Given the description of an element on the screen output the (x, y) to click on. 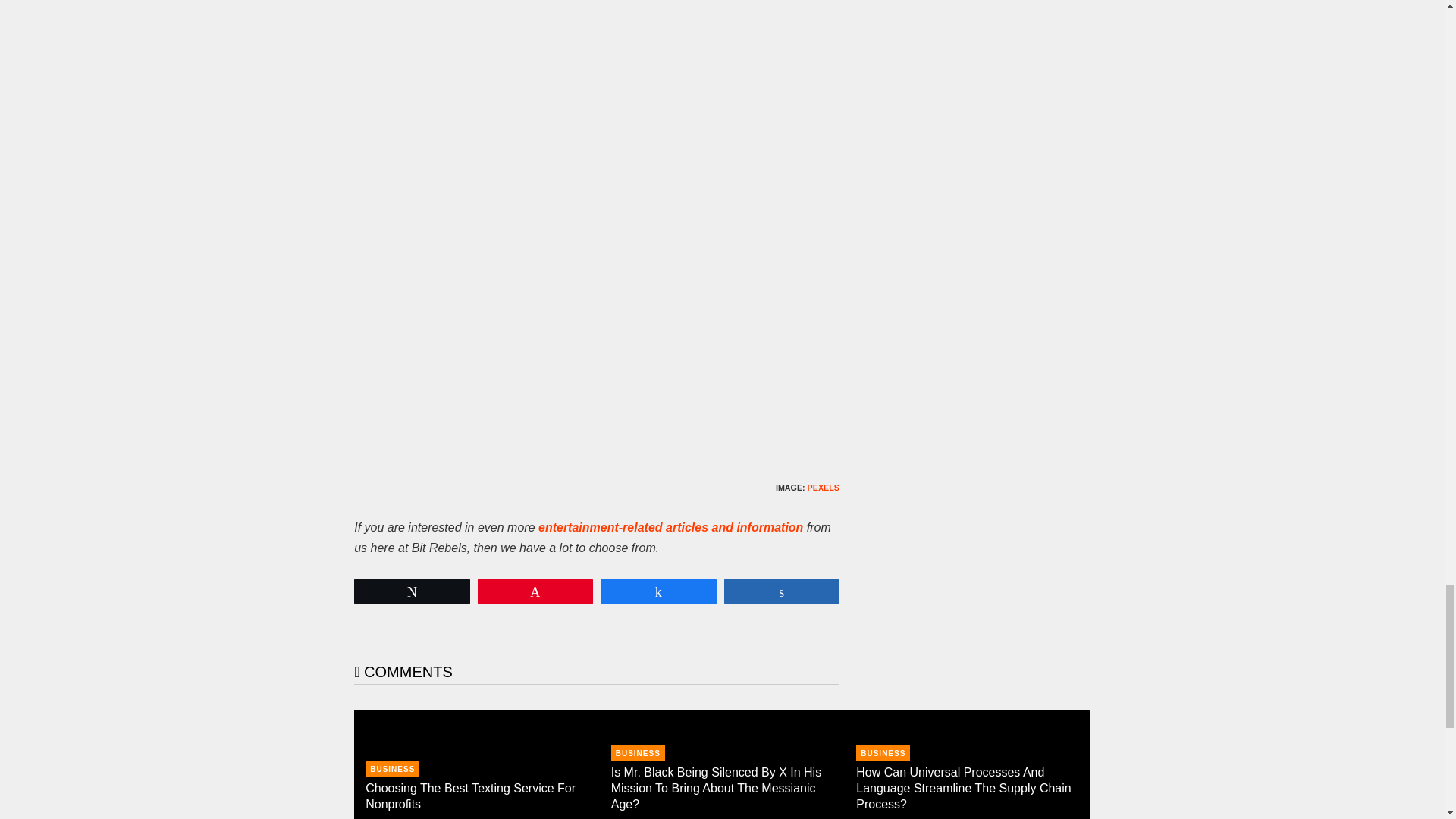
PEXELS (824, 487)
entertainment-related articles and information (670, 526)
